Given the description of an element on the screen output the (x, y) to click on. 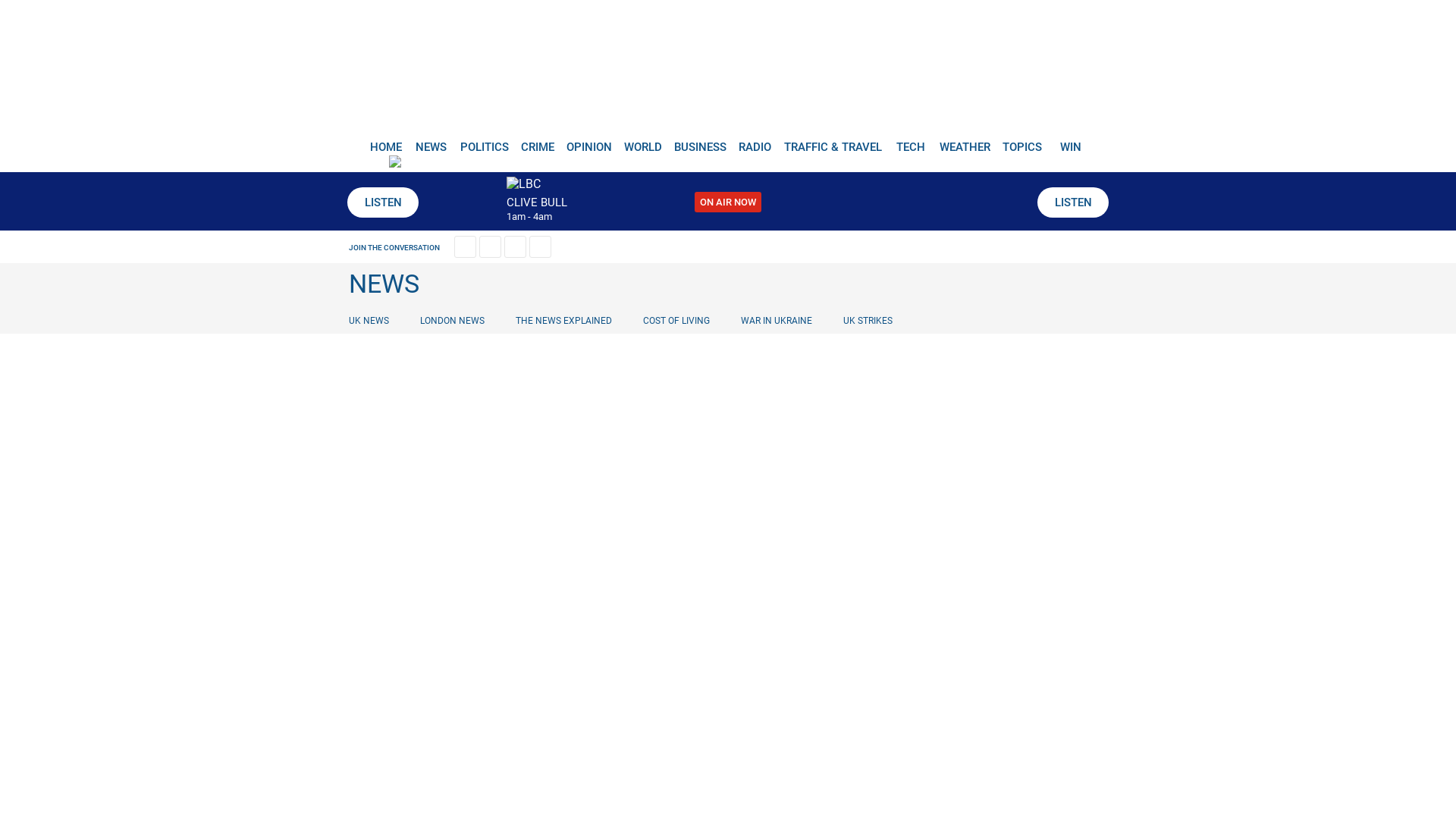
CRIME (536, 140)
WORLD (641, 140)
RADIO (754, 140)
CLIVE BULL (536, 202)
WEATHER (964, 140)
UK NEWS (372, 320)
BUSINESS (699, 140)
WIN (1070, 140)
LISTEN (1072, 202)
LBC (727, 77)
